Given the description of an element on the screen output the (x, y) to click on. 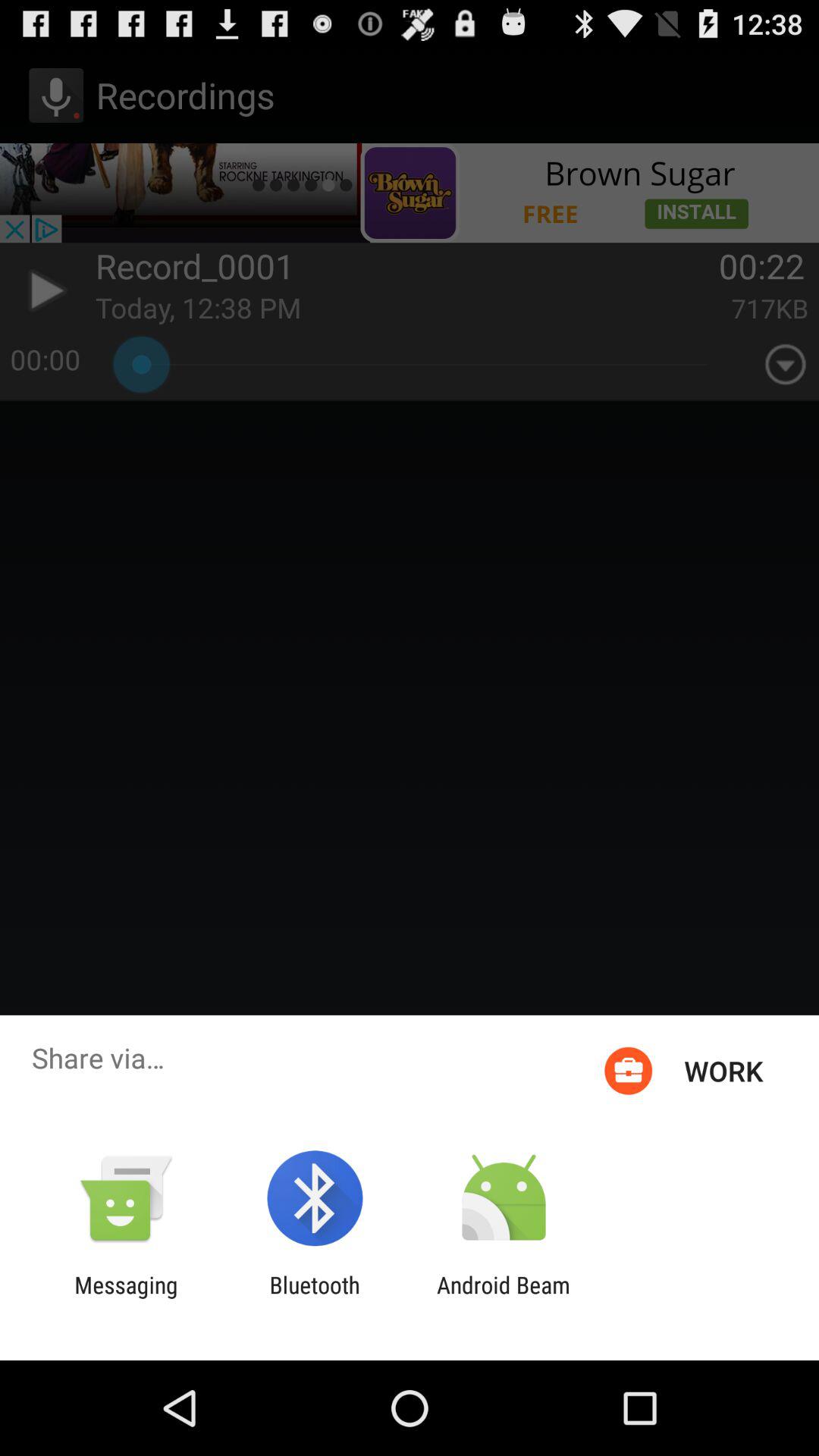
scroll until the android beam app (503, 1298)
